Given the description of an element on the screen output the (x, y) to click on. 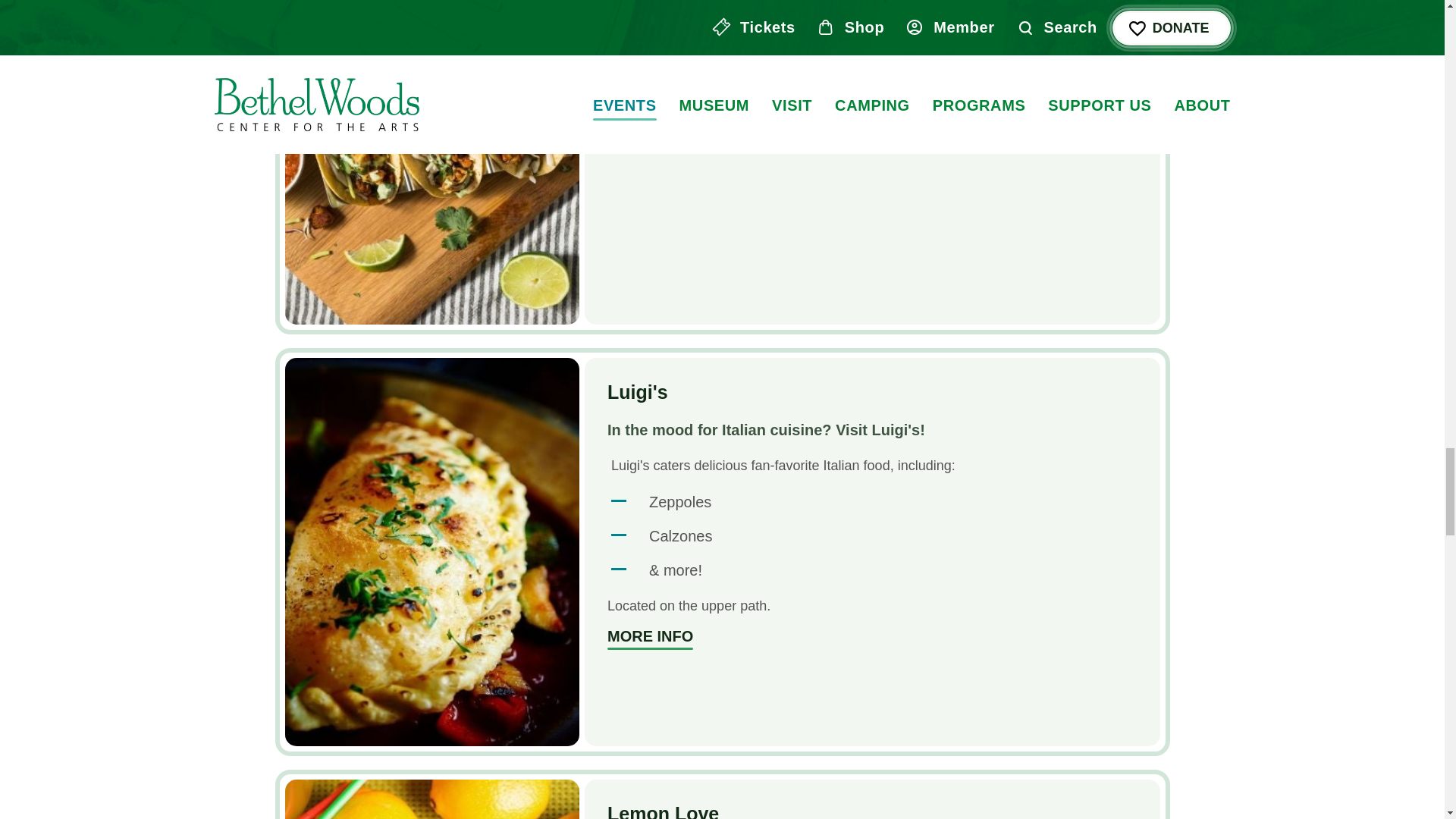
Lemon Love (432, 799)
Luigi's (650, 639)
Luigi's (637, 391)
